Given the description of an element on the screen output the (x, y) to click on. 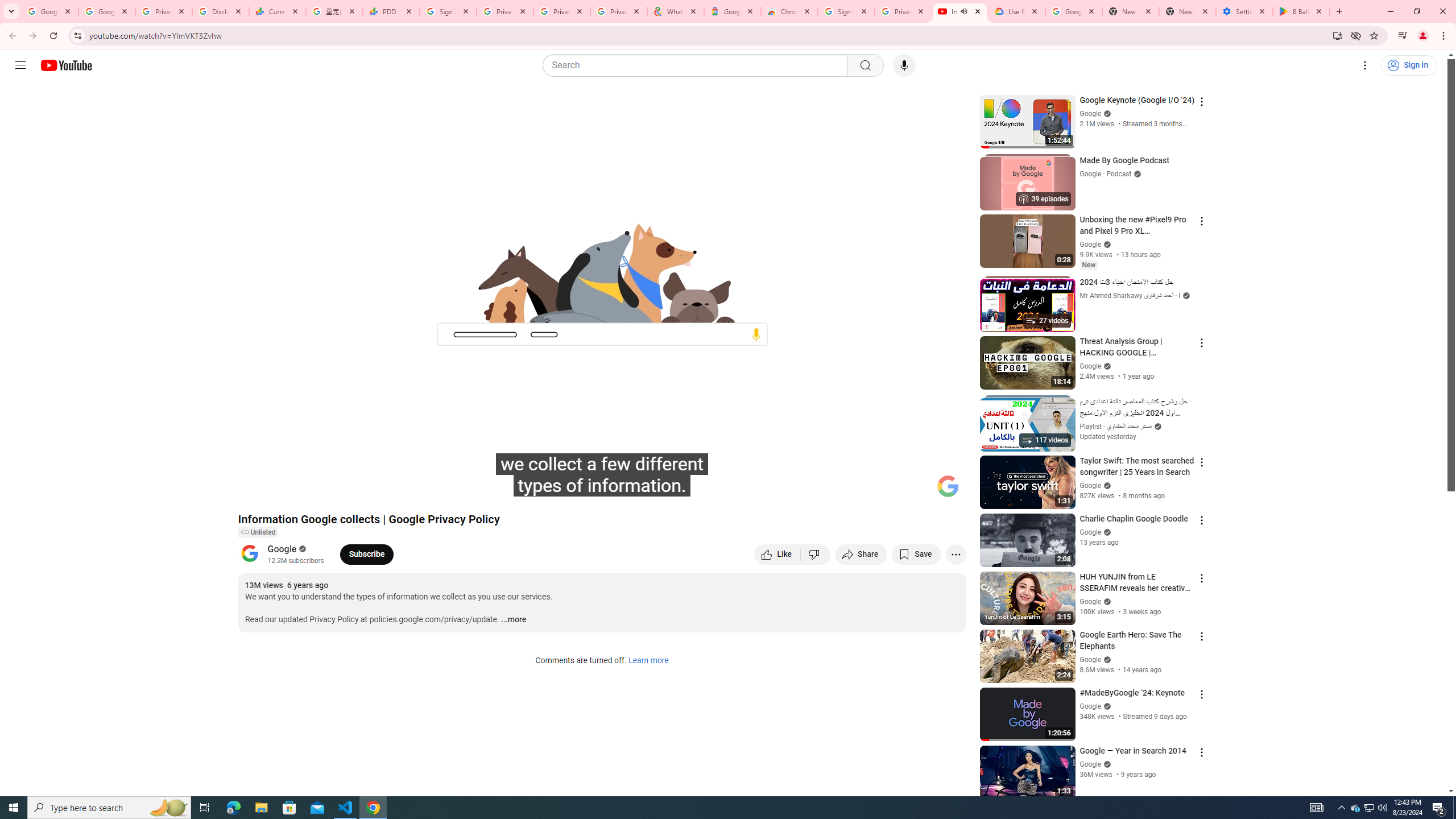
Verified (1106, 764)
Mute (m) (312, 490)
Miniplayer (i) (890, 490)
Save to playlist (915, 554)
Search with your voice (903, 65)
New (1087, 264)
